Given the description of an element on the screen output the (x, y) to click on. 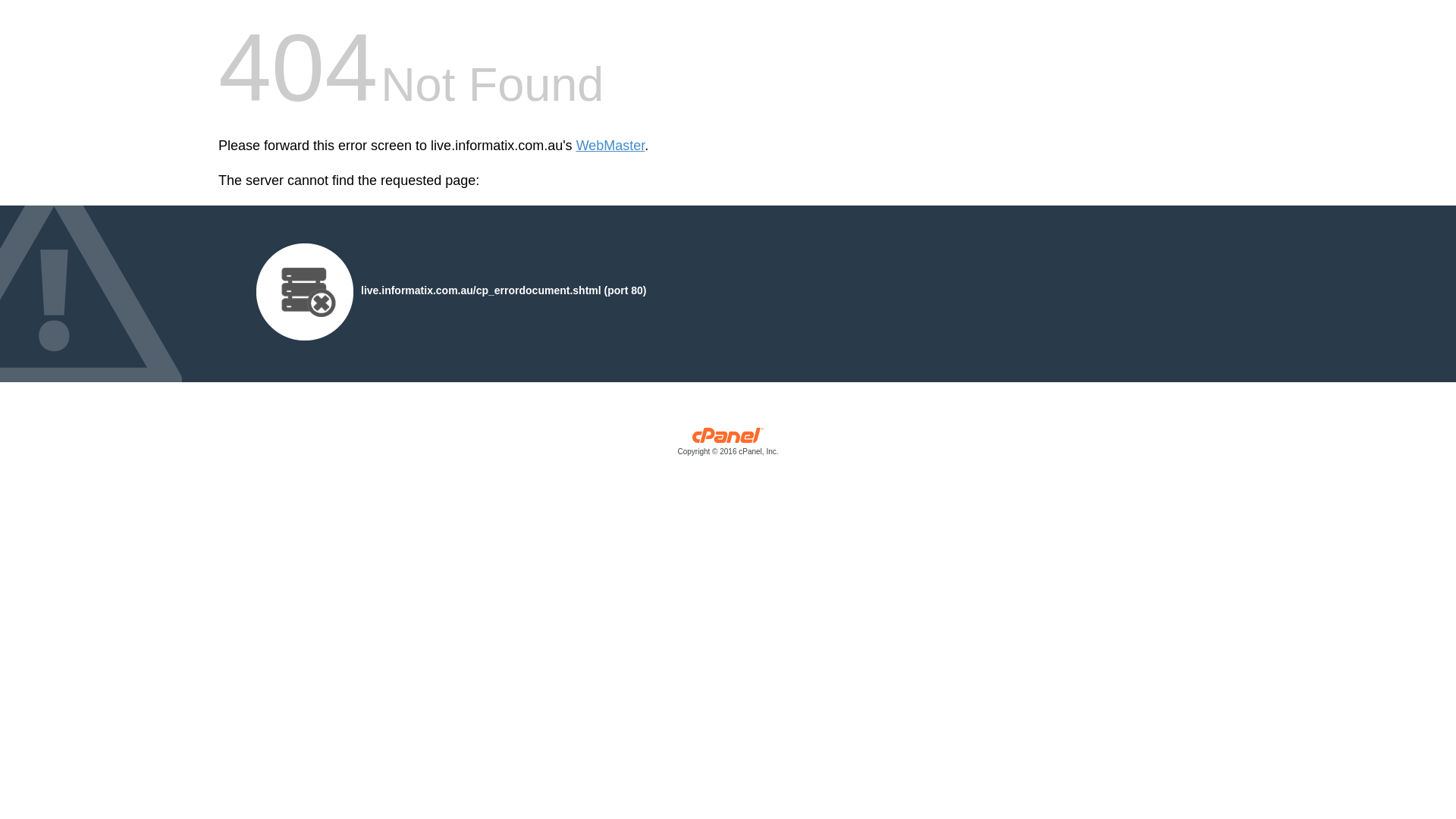
WebMaster Element type: text (610, 145)
